Given the description of an element on the screen output the (x, y) to click on. 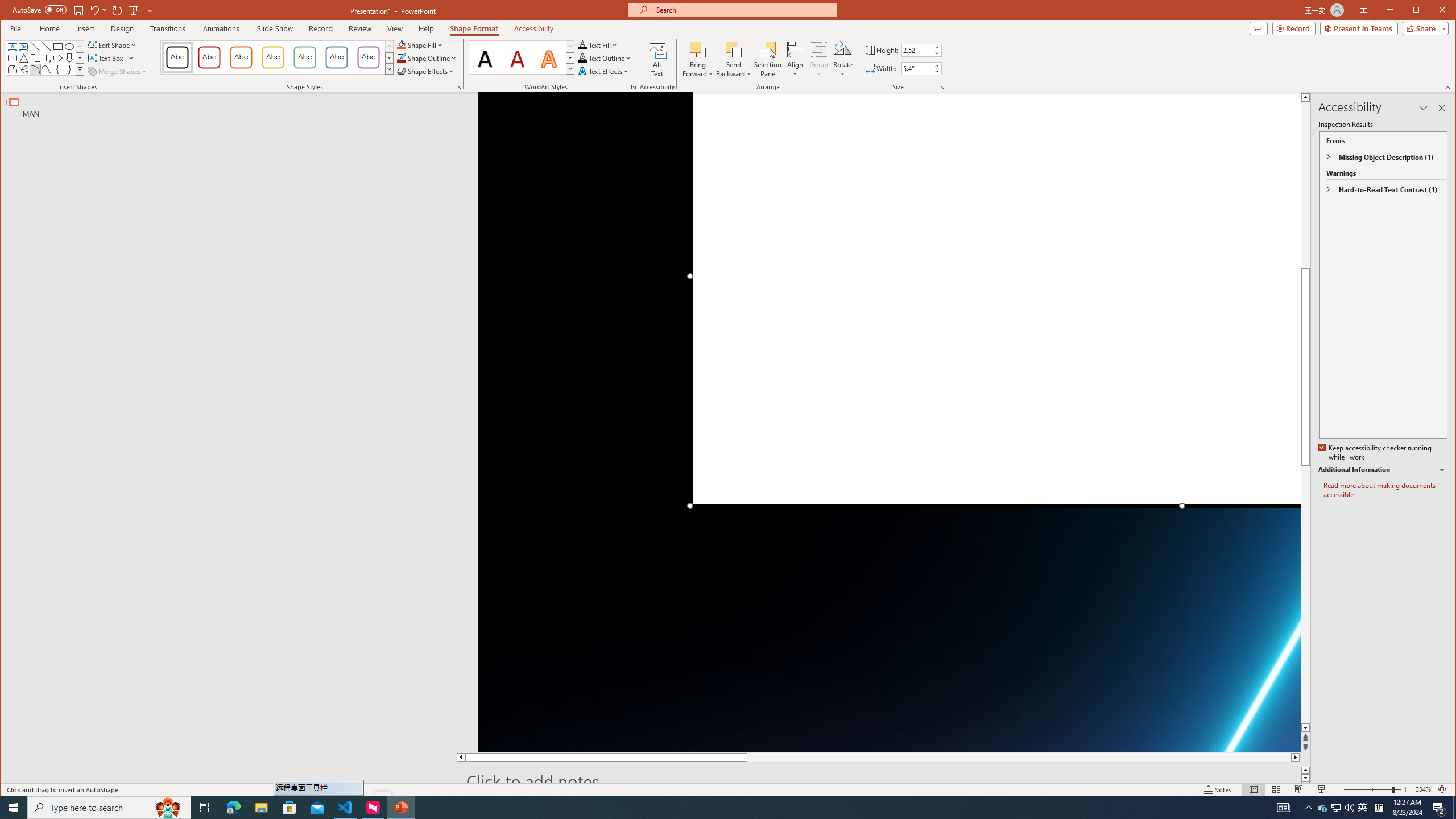
Bring Forward (697, 48)
Fill: Dark Red, Accent color 1; Shadow (517, 57)
File Explorer (261, 807)
Normal (1253, 789)
Share (1422, 27)
Shape Outline (426, 57)
Comments (1258, 28)
Close pane (1441, 107)
Colored Outline - Green, Accent 4 (304, 57)
Vertical Text Box (23, 46)
Tray Input Indicator - Chinese (Simplified, China) (1378, 807)
Shape Width (916, 68)
Home (49, 28)
Format Object... (458, 86)
